Given the description of an element on the screen output the (x, y) to click on. 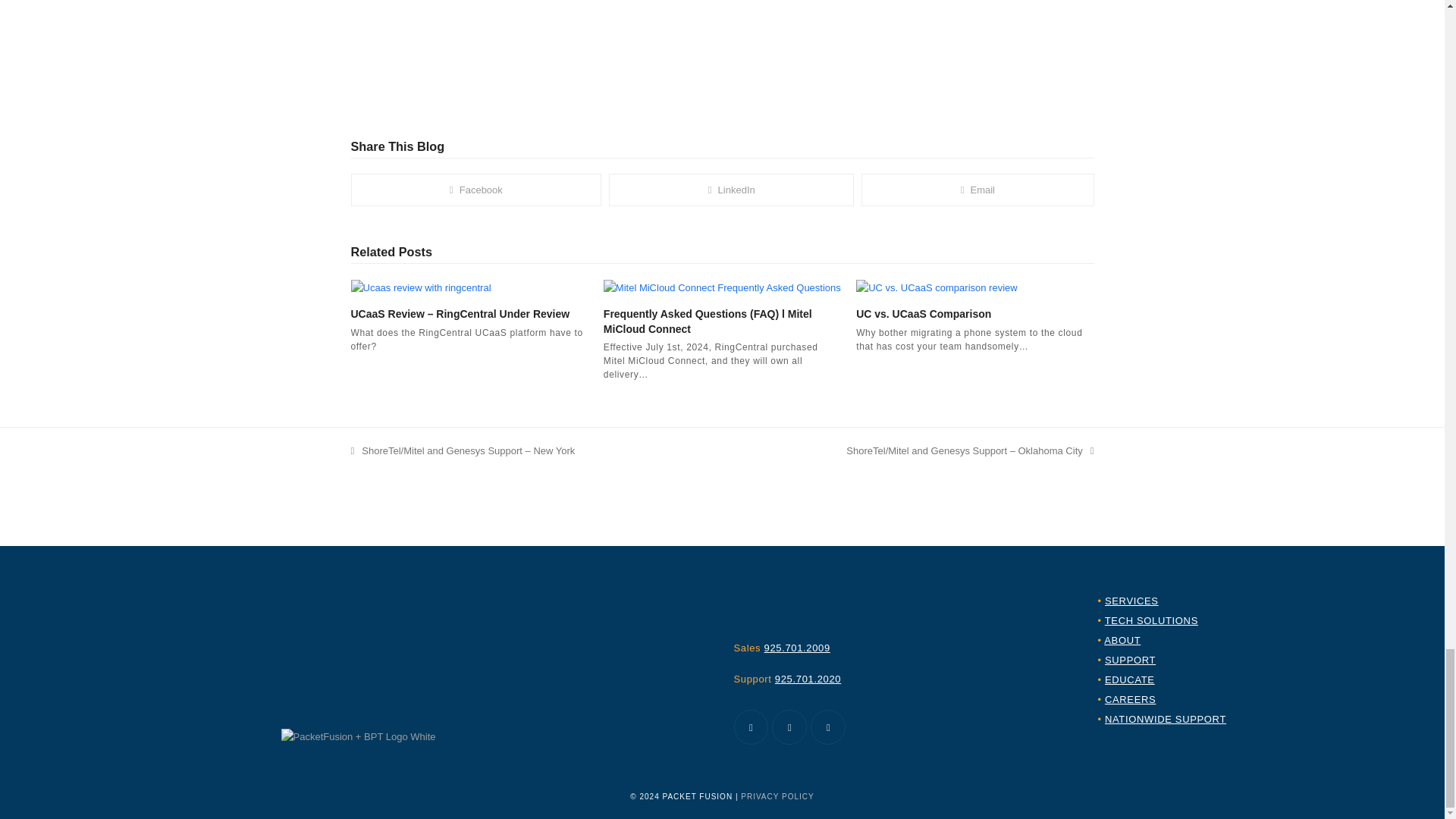
UC vs. UCaaS Comparison (936, 286)
YouTube (827, 727)
LinkedIn (788, 727)
Facebook (750, 727)
